Given the description of an element on the screen output the (x, y) to click on. 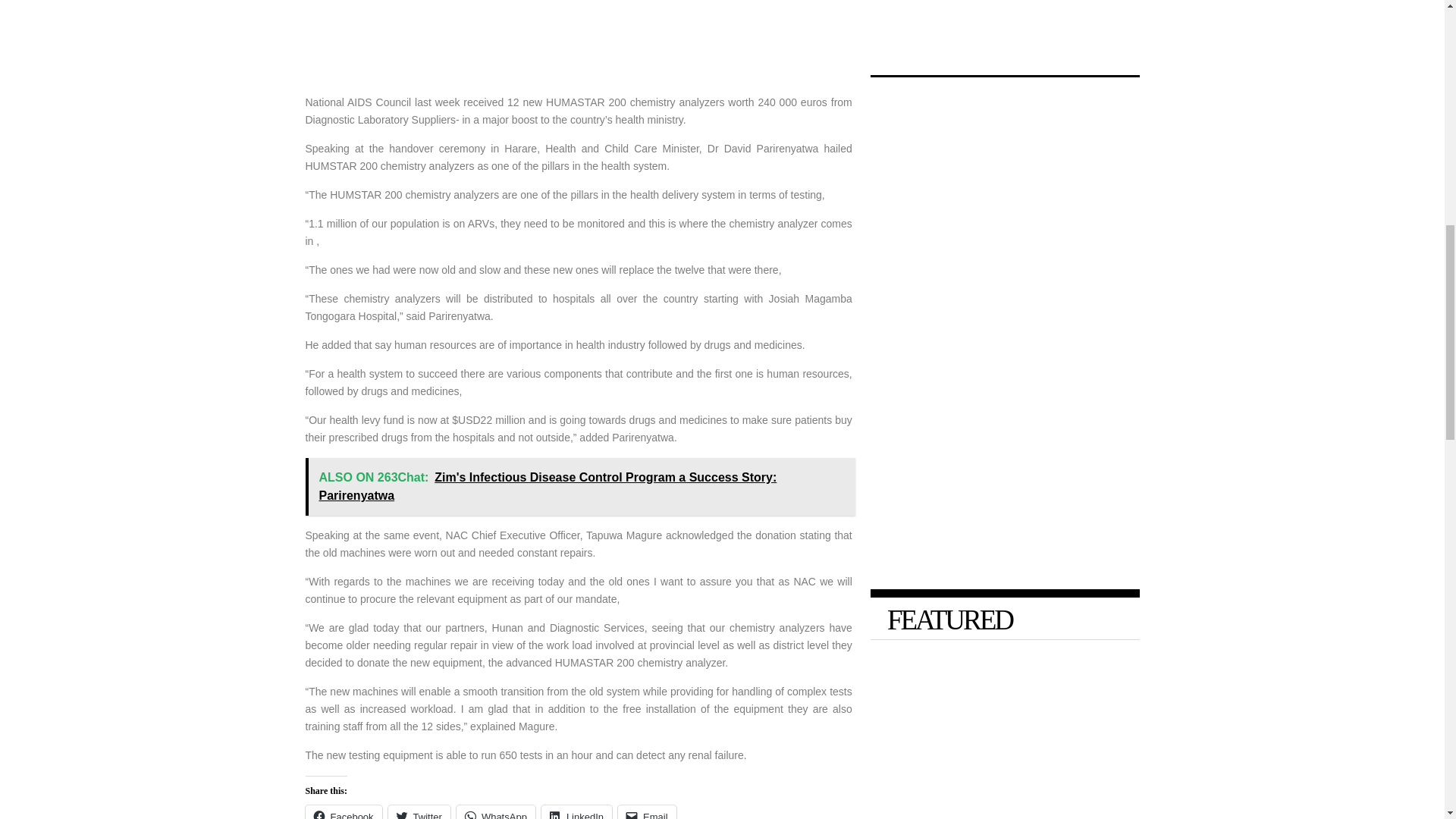
Click to share on Facebook (342, 812)
Click to email a link to a friend (647, 812)
Click to share on Twitter (418, 812)
Click to share on WhatsApp (496, 812)
Click to share on LinkedIn (576, 812)
